Given the description of an element on the screen output the (x, y) to click on. 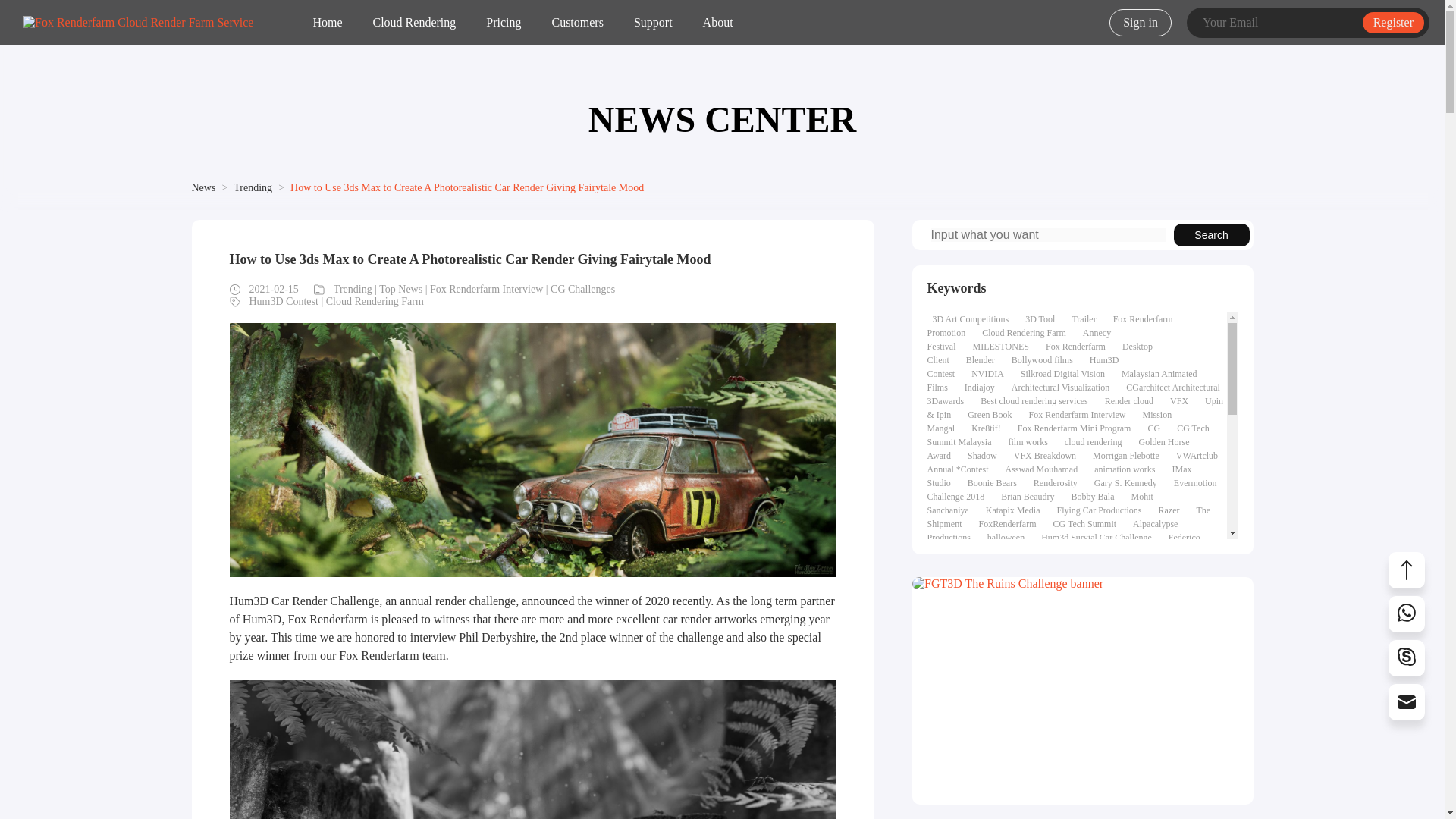
Customers (576, 22)
Trending (252, 187)
Register (1392, 22)
Home (327, 22)
Pricing (503, 22)
News (202, 187)
Sign in (1140, 22)
Cloud Rendering (413, 22)
Search (1211, 234)
